Given the description of an element on the screen output the (x, y) to click on. 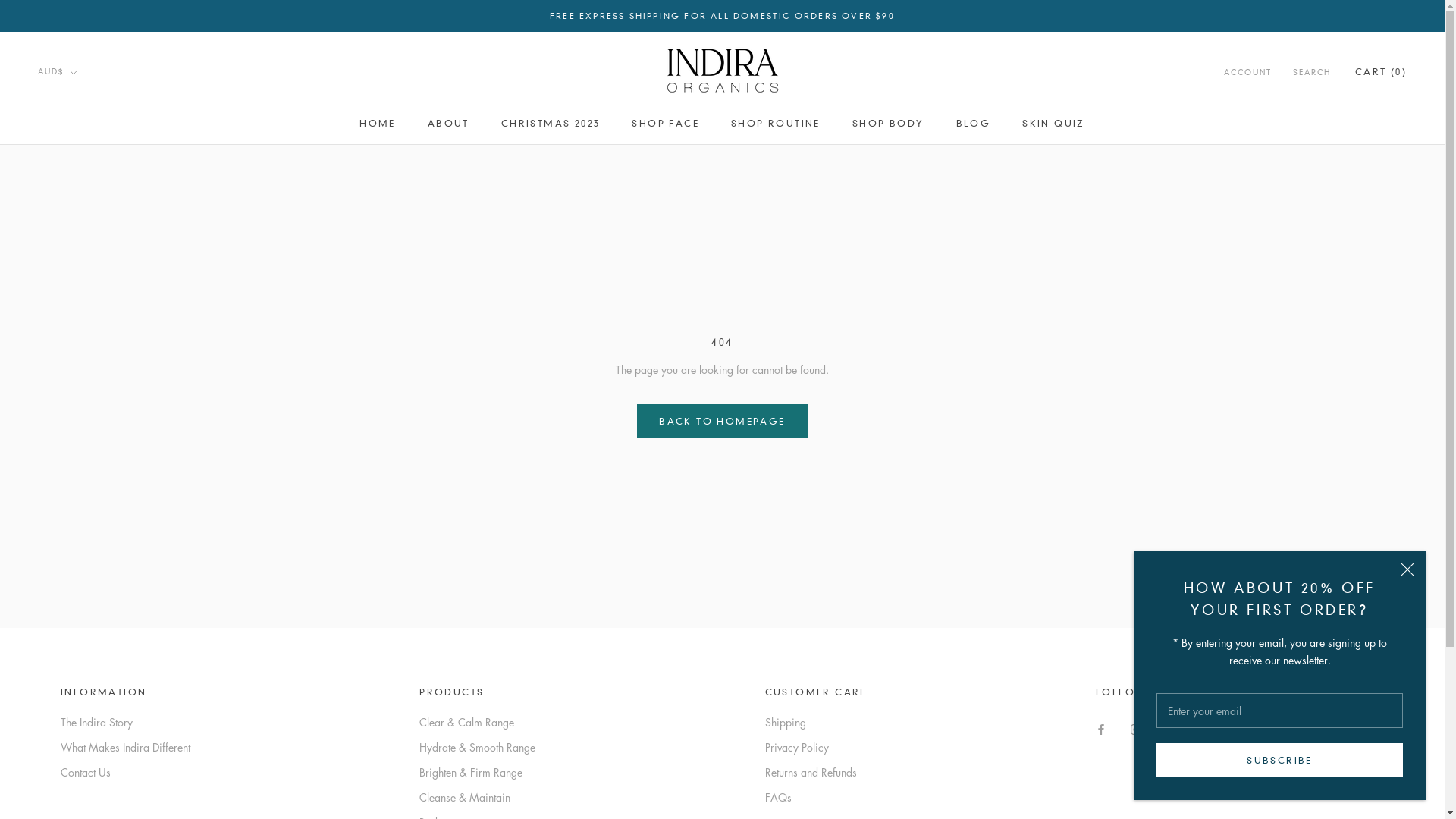
Returns and Refunds Element type: text (815, 772)
AMD Element type: text (85, 163)
BND Element type: text (85, 364)
BSD Element type: text (85, 405)
DJF Element type: text (85, 606)
BOB Element type: text (85, 385)
EGP Element type: text (85, 686)
GBP Element type: text (85, 787)
GMD Element type: text (85, 807)
CNY Element type: text (85, 525)
CZK Element type: text (85, 586)
Privacy Policy Element type: text (815, 747)
EUR Element type: text (85, 726)
FAQs Element type: text (815, 797)
AZN Element type: text (85, 244)
FKP Element type: text (85, 766)
SHOP FACE Element type: text (665, 122)
Brighten & Firm Range Element type: text (477, 772)
Contact Us Element type: text (125, 772)
BIF Element type: text (85, 345)
CVE Element type: text (85, 565)
SHOP BODY
SHOP BODY Element type: text (888, 122)
Shipping Element type: text (815, 722)
SHOP ROUTINE Element type: text (775, 122)
AWG Element type: text (85, 224)
CHRISTMAS 2023
CHRISTMAS 2023 Element type: text (550, 122)
CRC Element type: text (85, 546)
DZD Element type: text (85, 666)
CDF Element type: text (85, 485)
ANG Element type: text (85, 184)
CAD Element type: text (85, 465)
ABOUT Element type: text (448, 122)
BAM Element type: text (85, 264)
ETB Element type: text (85, 706)
AUD Element type: text (85, 204)
Hydrate & Smooth Range Element type: text (477, 747)
DOP Element type: text (85, 646)
AED Element type: text (85, 104)
AFN Element type: text (85, 123)
DKK Element type: text (85, 626)
BWP Element type: text (85, 425)
CHF Element type: text (85, 505)
The Indira Story Element type: text (125, 722)
BGN Element type: text (85, 324)
ACCOUNT Element type: text (1247, 72)
SKIN QUIZ
SKIN QUIZ Element type: text (1053, 122)
BLOG
BLOG Element type: text (973, 122)
AUD$ Element type: text (57, 72)
FJD Element type: text (85, 747)
ALL Element type: text (85, 144)
BBD Element type: text (85, 284)
What Makes Indira Different Element type: text (125, 747)
SEARCH Element type: text (1311, 72)
CART (0) Element type: text (1380, 71)
Clear & Calm Range Element type: text (477, 722)
BACK TO HOMEPAGE Element type: text (721, 421)
Cleanse & Maintain Element type: text (477, 797)
HOME
HOME Element type: text (377, 122)
BDT Element type: text (85, 304)
BZD Element type: text (85, 445)
